Given the description of an element on the screen output the (x, y) to click on. 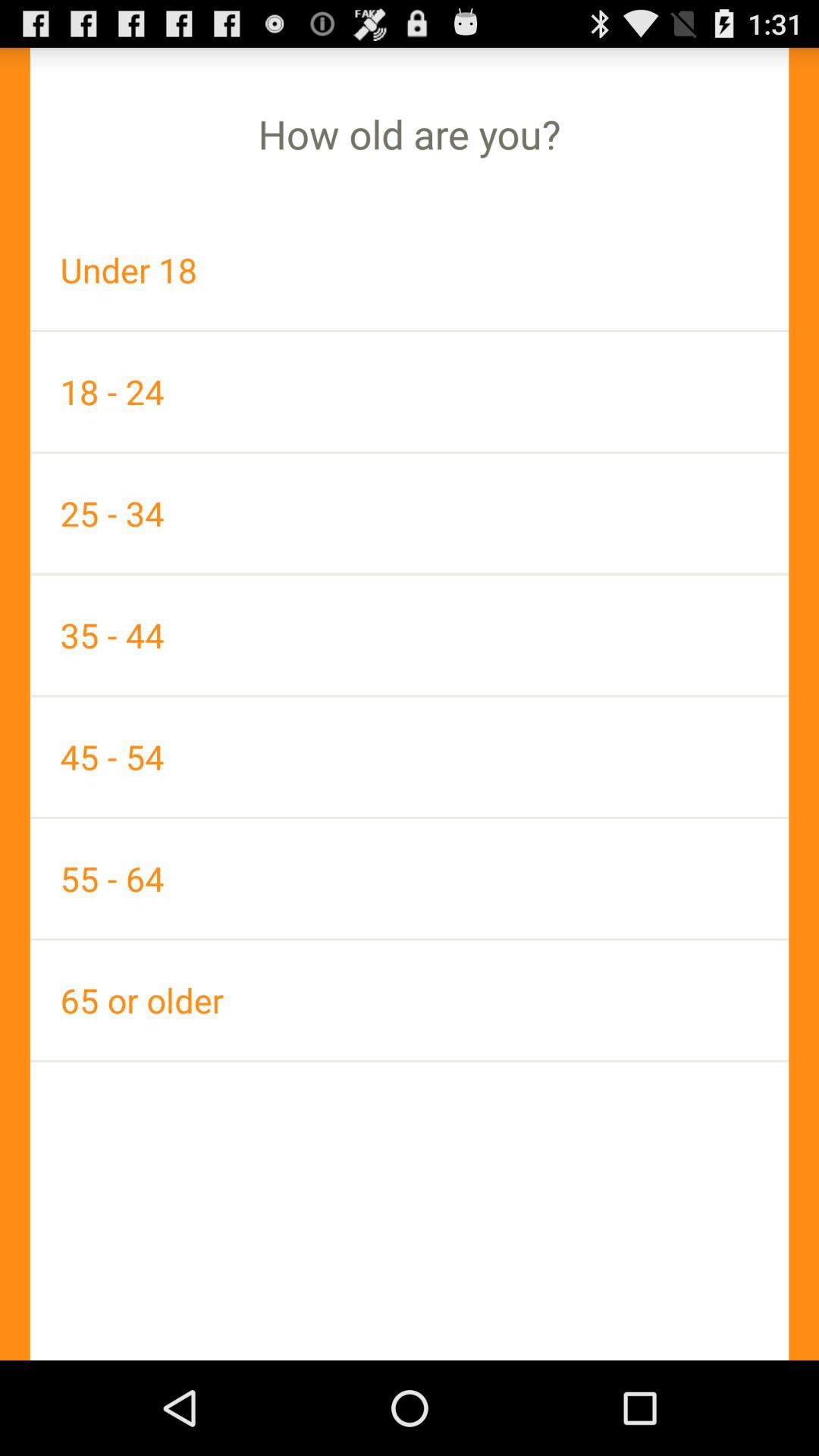
press the app below the 55 - 64 app (409, 1000)
